Given the description of an element on the screen output the (x, y) to click on. 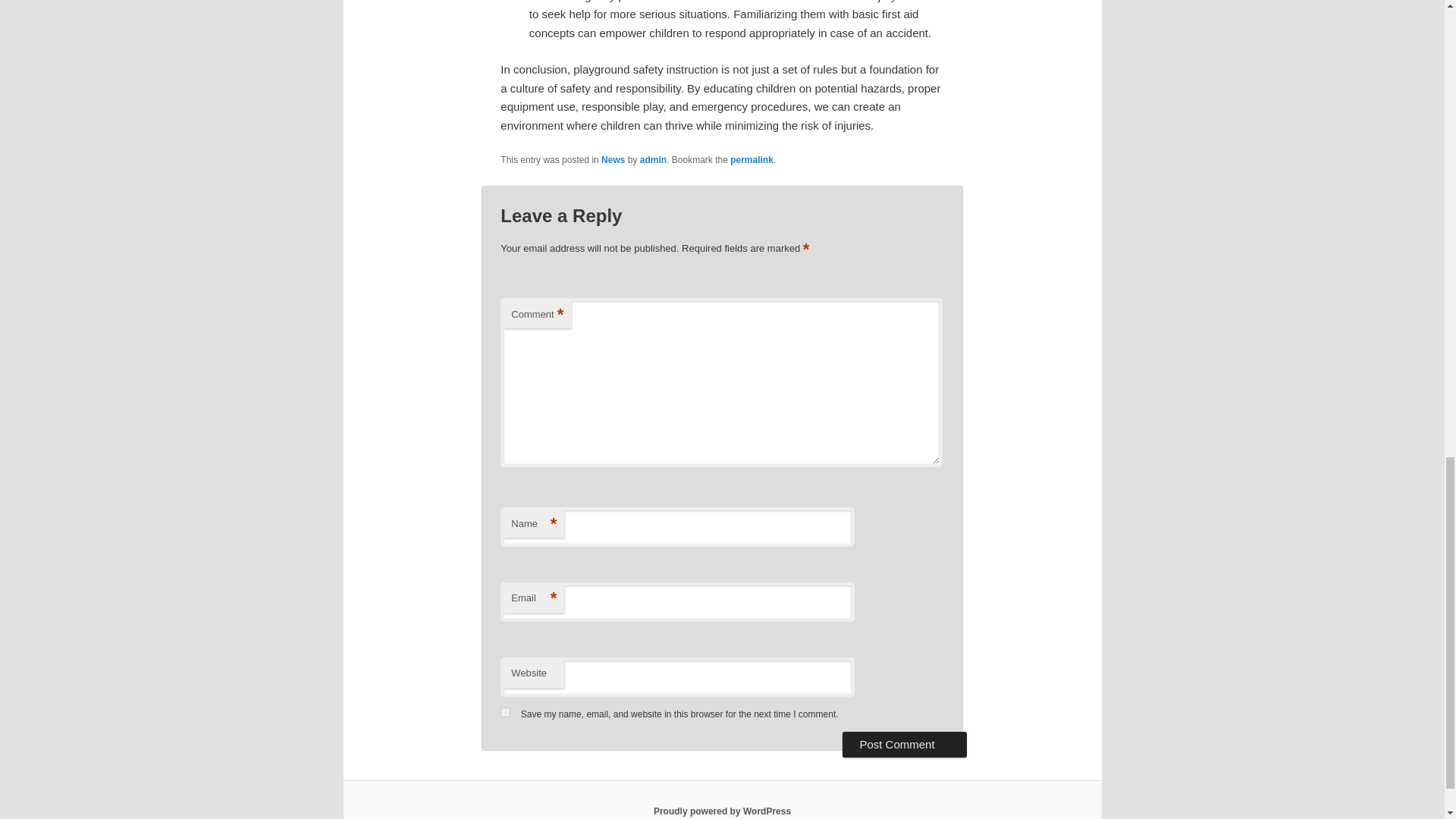
Post Comment (904, 744)
News (612, 159)
Semantic Personal Publishing Platform (721, 810)
Proudly powered by WordPress (721, 810)
admin (653, 159)
permalink (751, 159)
Post Comment (904, 744)
yes (505, 712)
